Given the description of an element on the screen output the (x, y) to click on. 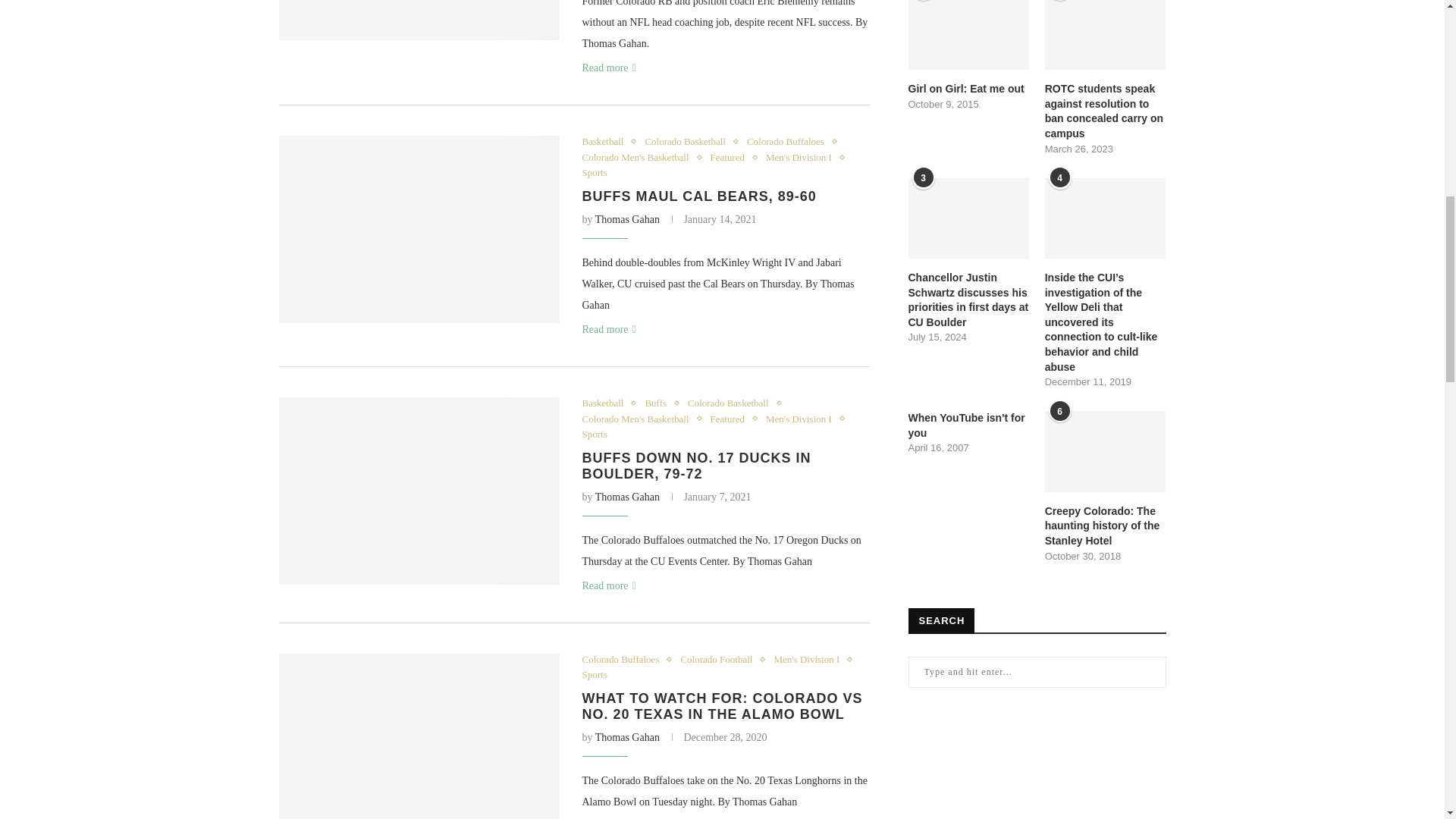
Girl on Girl: Eat me out (968, 35)
Buffs down No. 17 Ducks in Boulder, 79-72 (419, 490)
Buffs maul Cal Bears, 89-60 (419, 228)
Girl on Girl: Eat me out (968, 89)
